Given the description of an element on the screen output the (x, y) to click on. 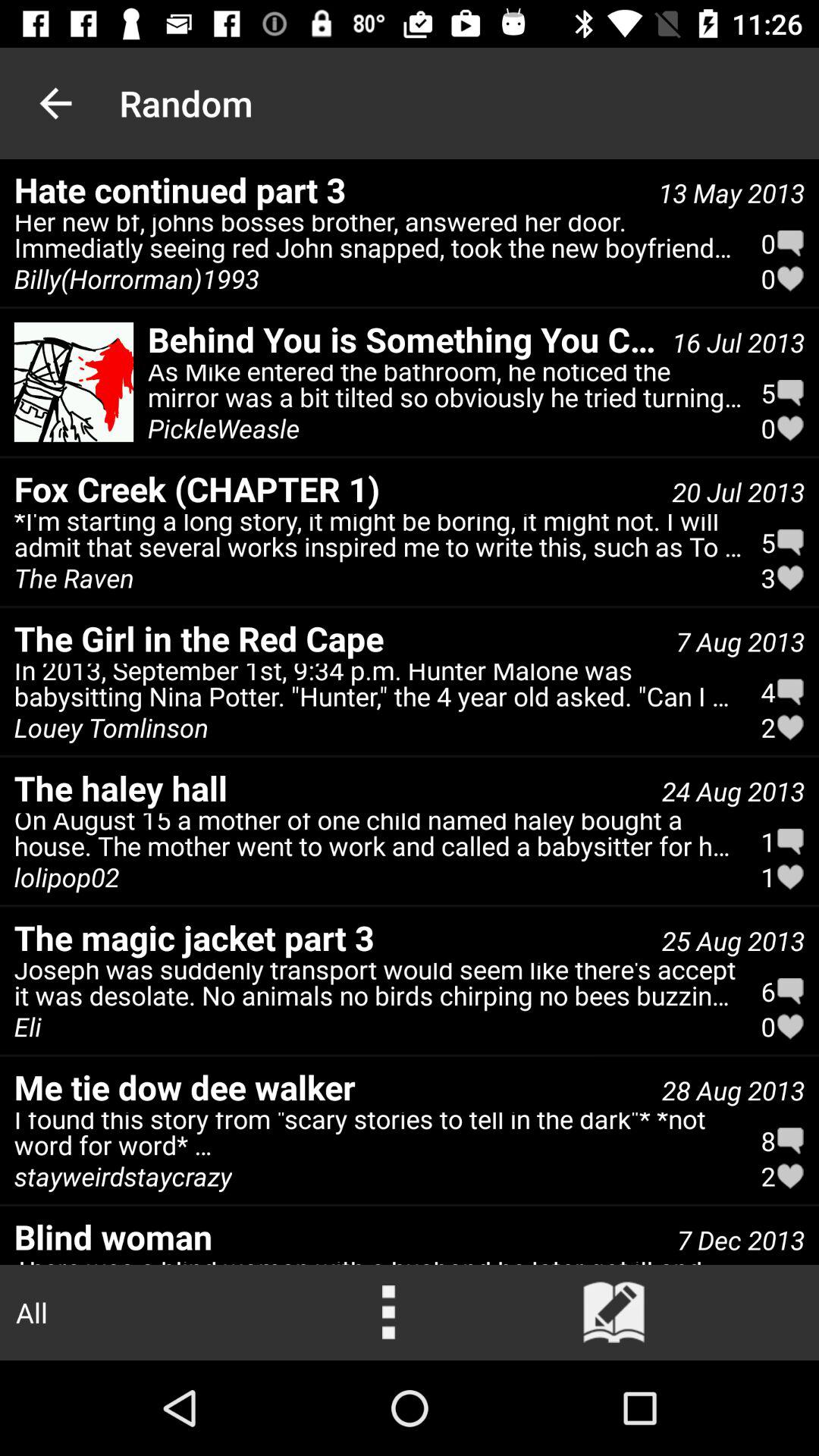
turn on the icon below the the magic jacket icon (27, 1026)
